Given the description of an element on the screen output the (x, y) to click on. 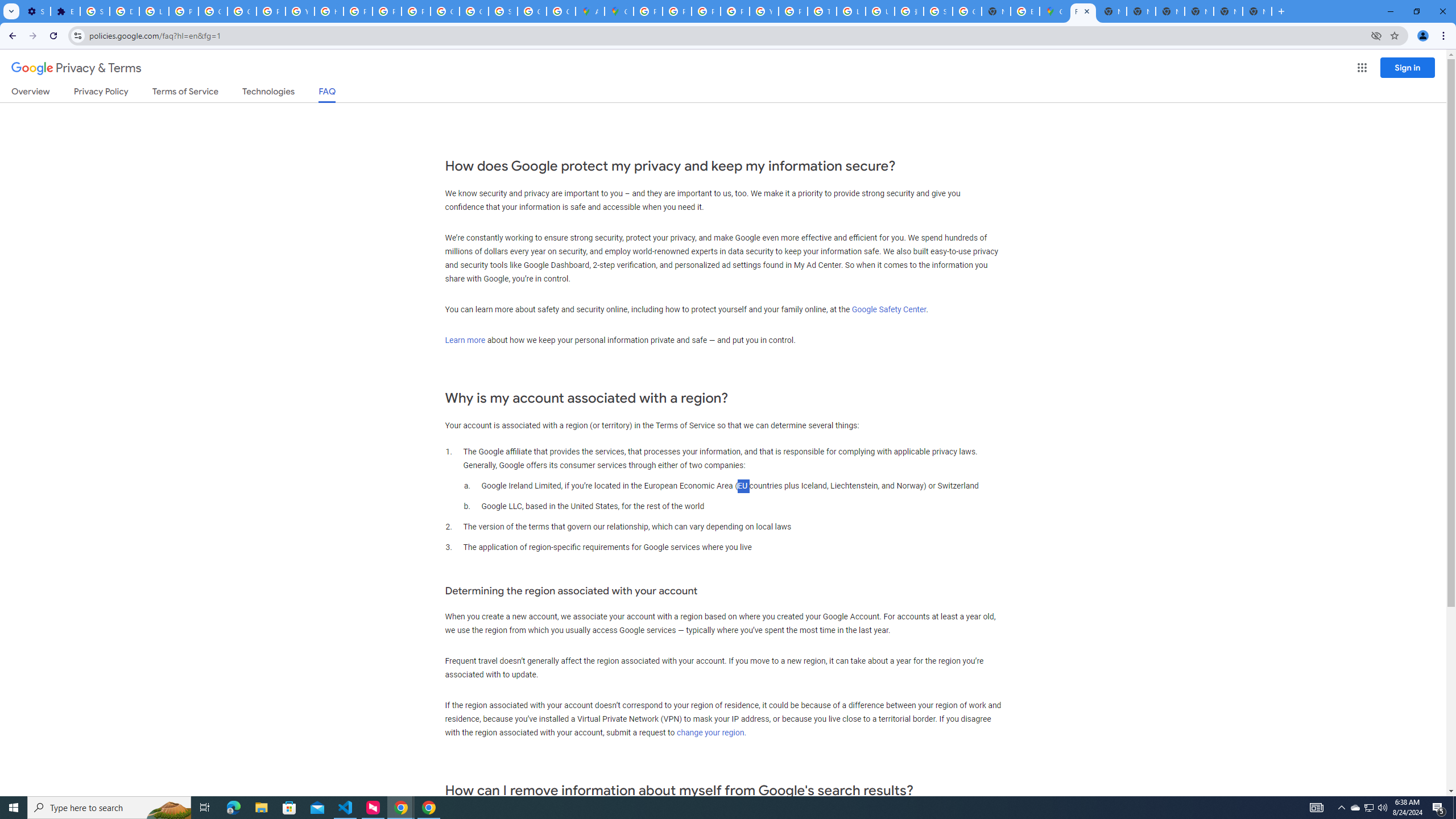
Delete photos & videos - Computer - Google Photos Help (124, 11)
